Given the description of an element on the screen output the (x, y) to click on. 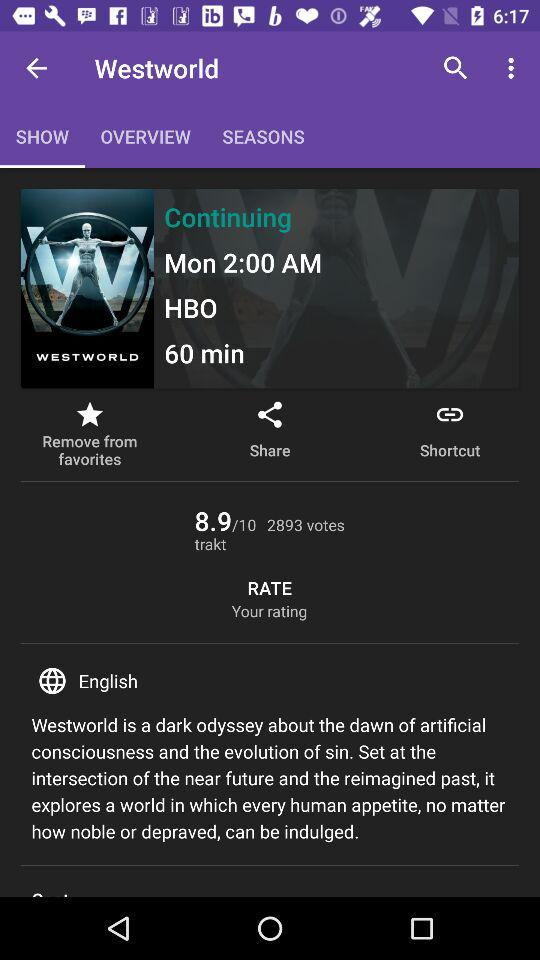
open the icon next to overview item (36, 68)
